Given the description of an element on the screen output the (x, y) to click on. 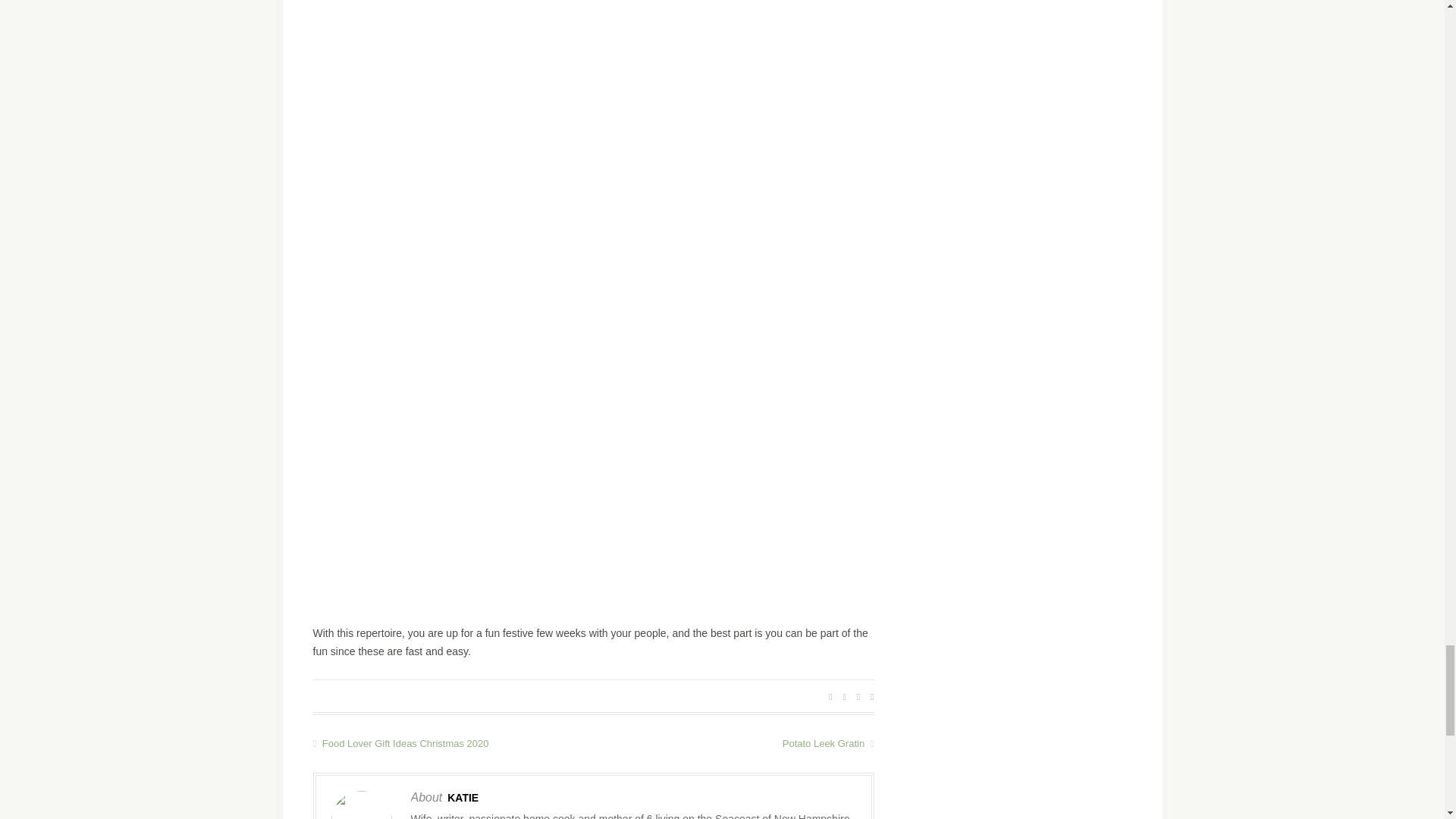
KATIE (462, 797)
Potato Leek Gratin (732, 742)
Food Lover Gift Ideas Christmas 2020 (452, 742)
Posts by Katie (462, 797)
